Given the description of an element on the screen output the (x, y) to click on. 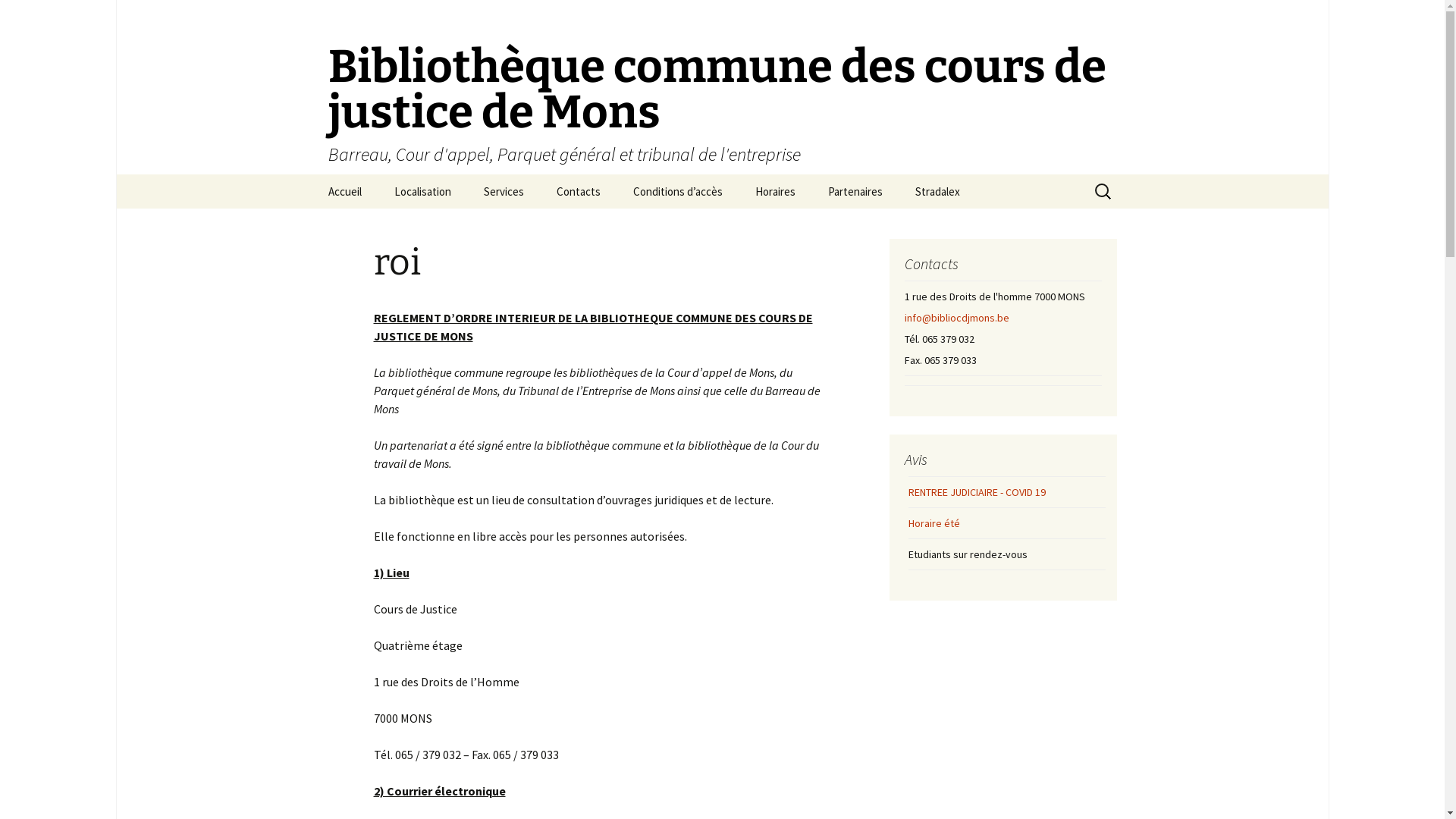
Rechercher Element type: text (18, 16)
Stradalex Element type: text (936, 191)
Accueil Element type: text (344, 191)
Aller au contenu Element type: text (312, 173)
Horaires Element type: text (775, 191)
Services Element type: text (503, 191)
RENTREE JUDICIAIRE - COVID 19 Element type: text (976, 491)
info@bibliocdjmons.be Element type: text (955, 317)
Localisation Element type: text (422, 191)
Contacts Element type: text (578, 191)
Partenaires Element type: text (854, 191)
